Given the description of an element on the screen output the (x, y) to click on. 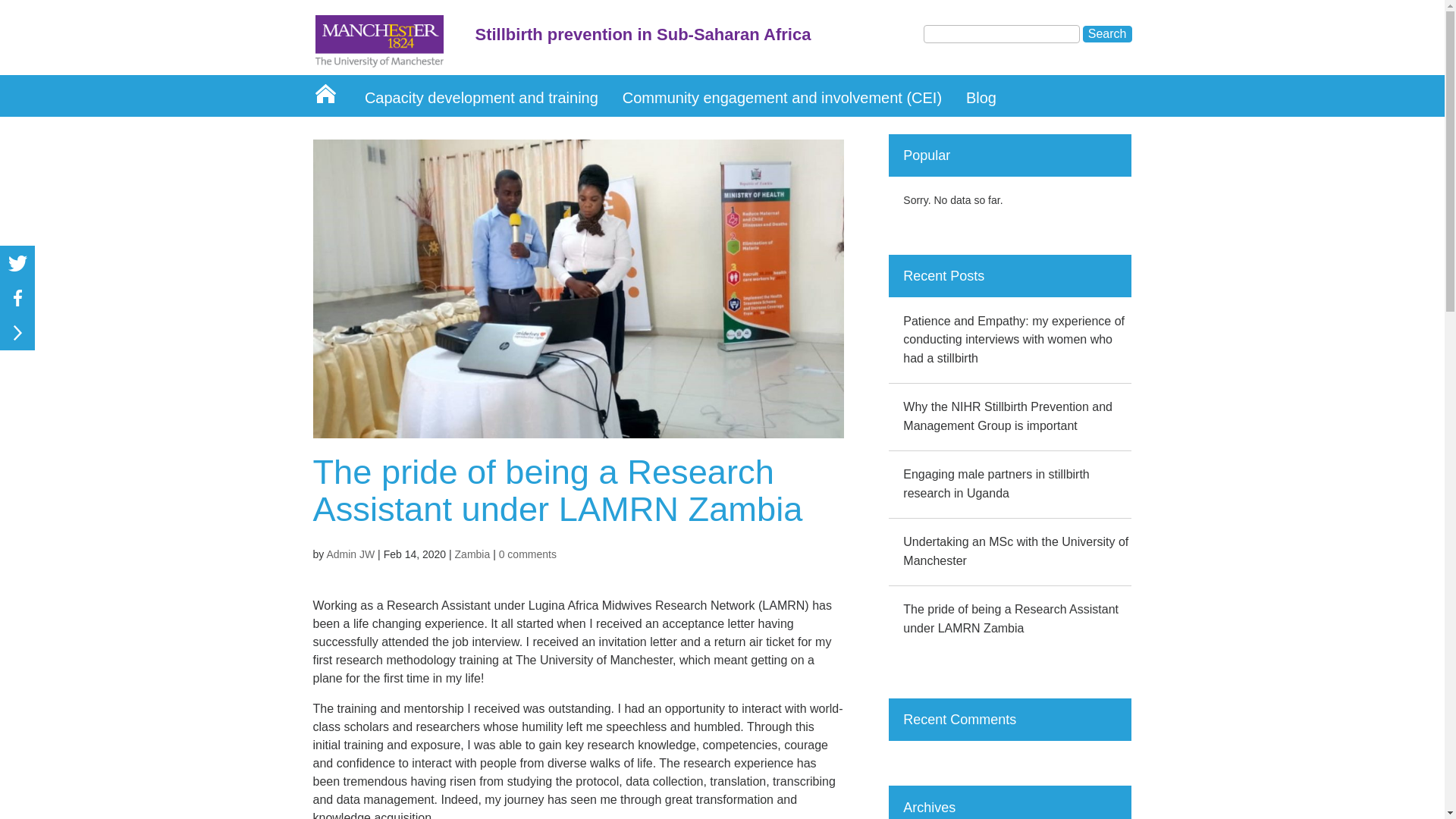
Zambia (472, 553)
Engaging male partners in stillbirth research in Uganda (995, 483)
Admin JW (350, 553)
Posts by Admin JW (350, 553)
Search (1107, 33)
The pride of being a Research Assistant under LAMRN Zambia (1010, 618)
0 comments (527, 553)
Undertaking an MSc with the University of Manchester (1015, 551)
